Given the description of an element on the screen output the (x, y) to click on. 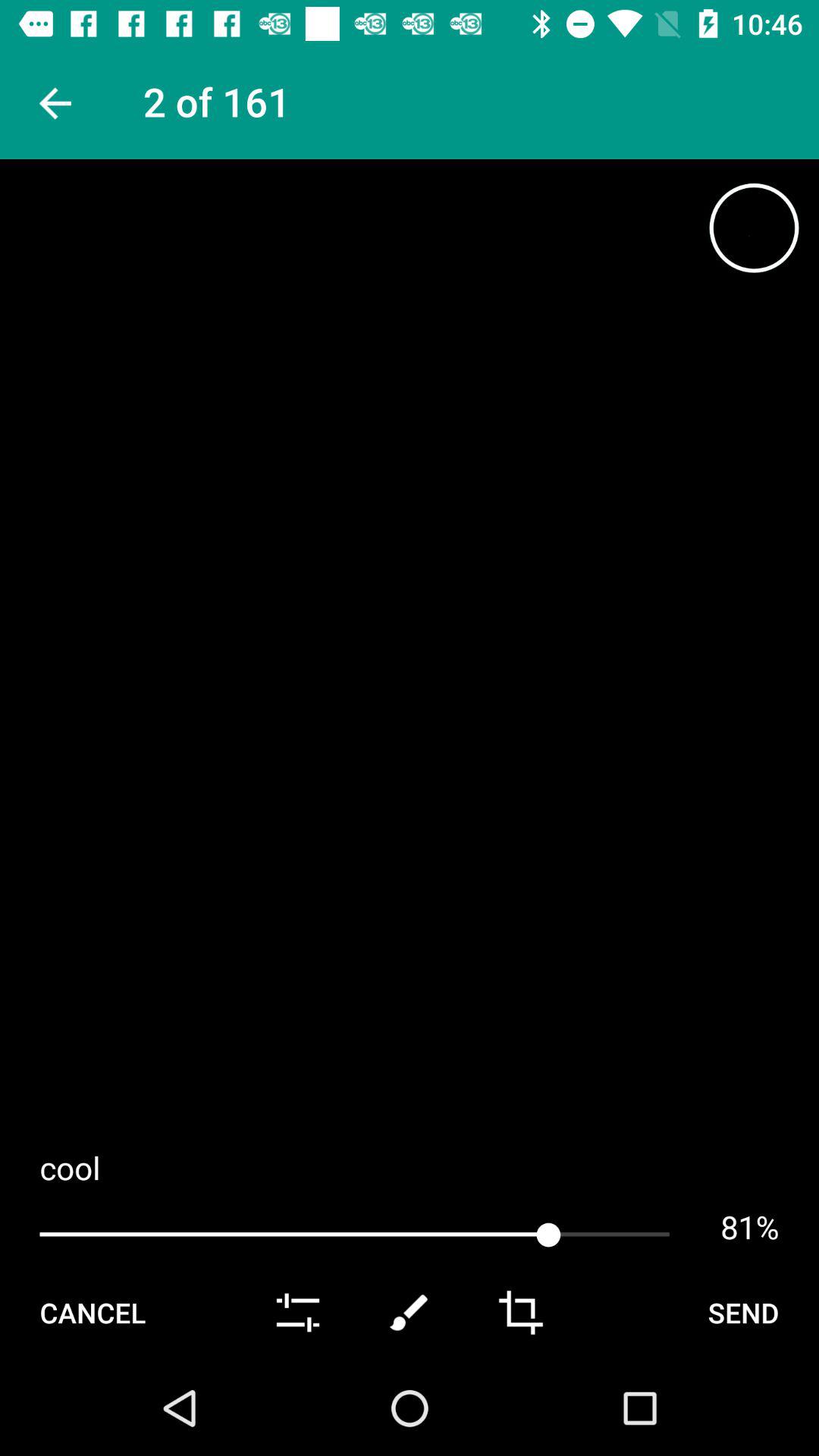
click the icon above the cool icon (754, 228)
